Given the description of an element on the screen output the (x, y) to click on. 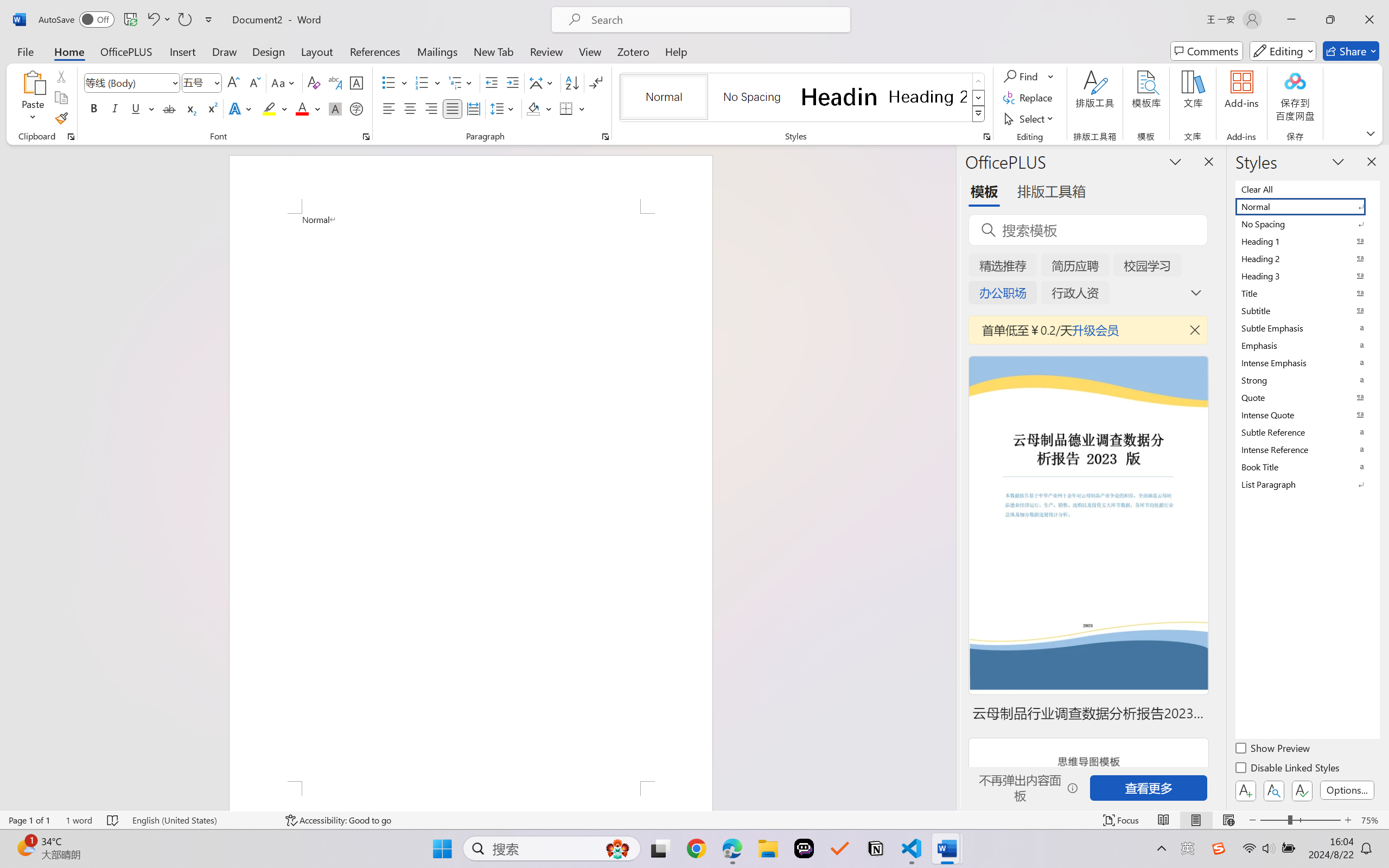
Show/Hide Editing Marks (595, 82)
Save (130, 19)
Undo Apply Quick Style (152, 19)
Enclose Characters... (356, 108)
Font Color (308, 108)
List Paragraph (1306, 484)
Subscript (190, 108)
Font (132, 82)
Help (675, 51)
Repeat Style (184, 19)
View (589, 51)
Paragraph... (605, 136)
Strong (1306, 379)
